Given the description of an element on the screen output the (x, y) to click on. 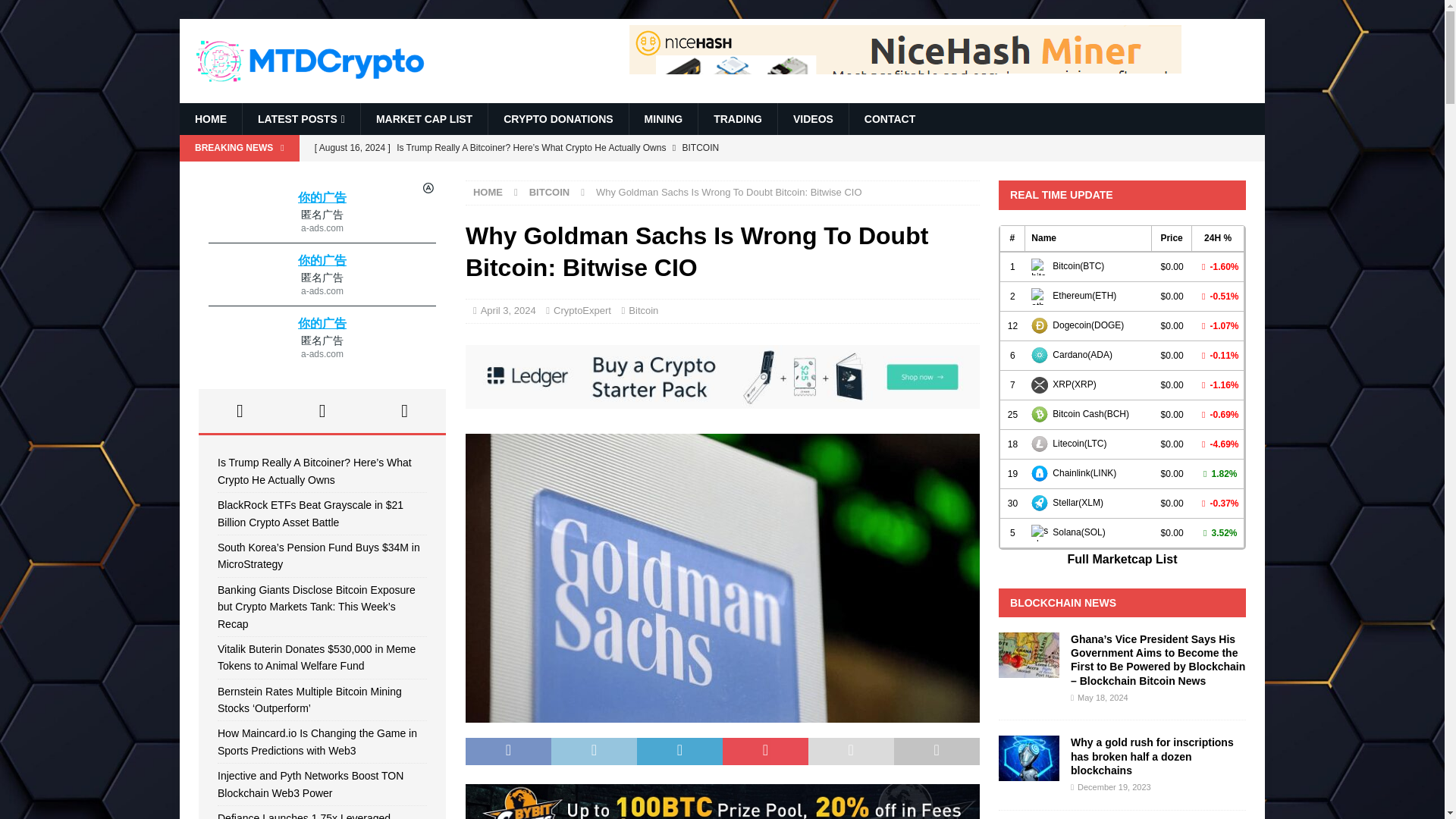
April 3, 2024 (507, 310)
CONTACT (889, 119)
HOME (487, 192)
MINING (663, 119)
Bitcoin (643, 310)
CryptoExpert (582, 310)
VIDEOS (812, 119)
LATEST POSTS (300, 119)
CRYPTO DONATIONS (557, 119)
